Given the description of an element on the screen output the (x, y) to click on. 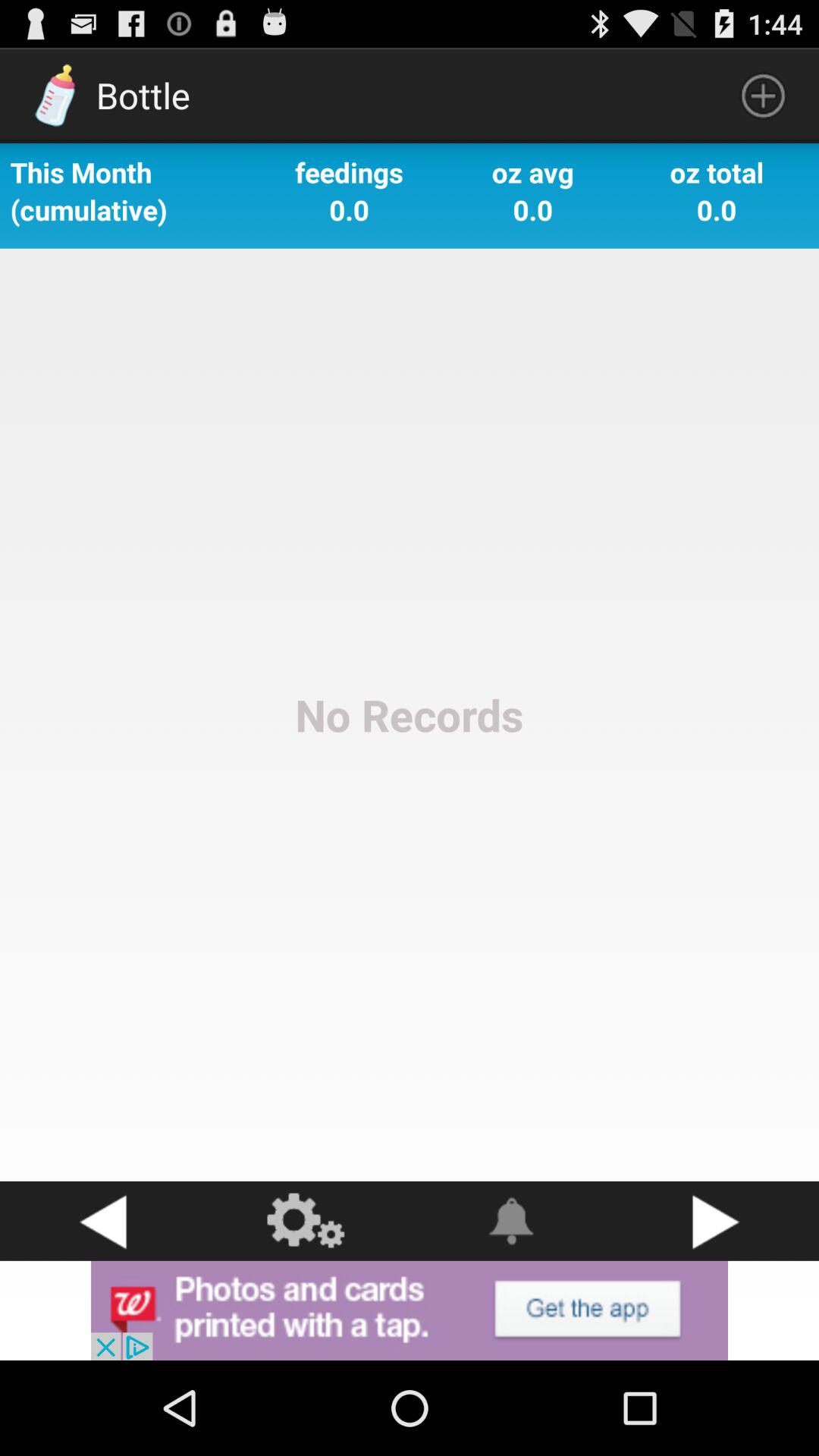
shows the alert option (511, 1220)
